Given the description of an element on the screen output the (x, y) to click on. 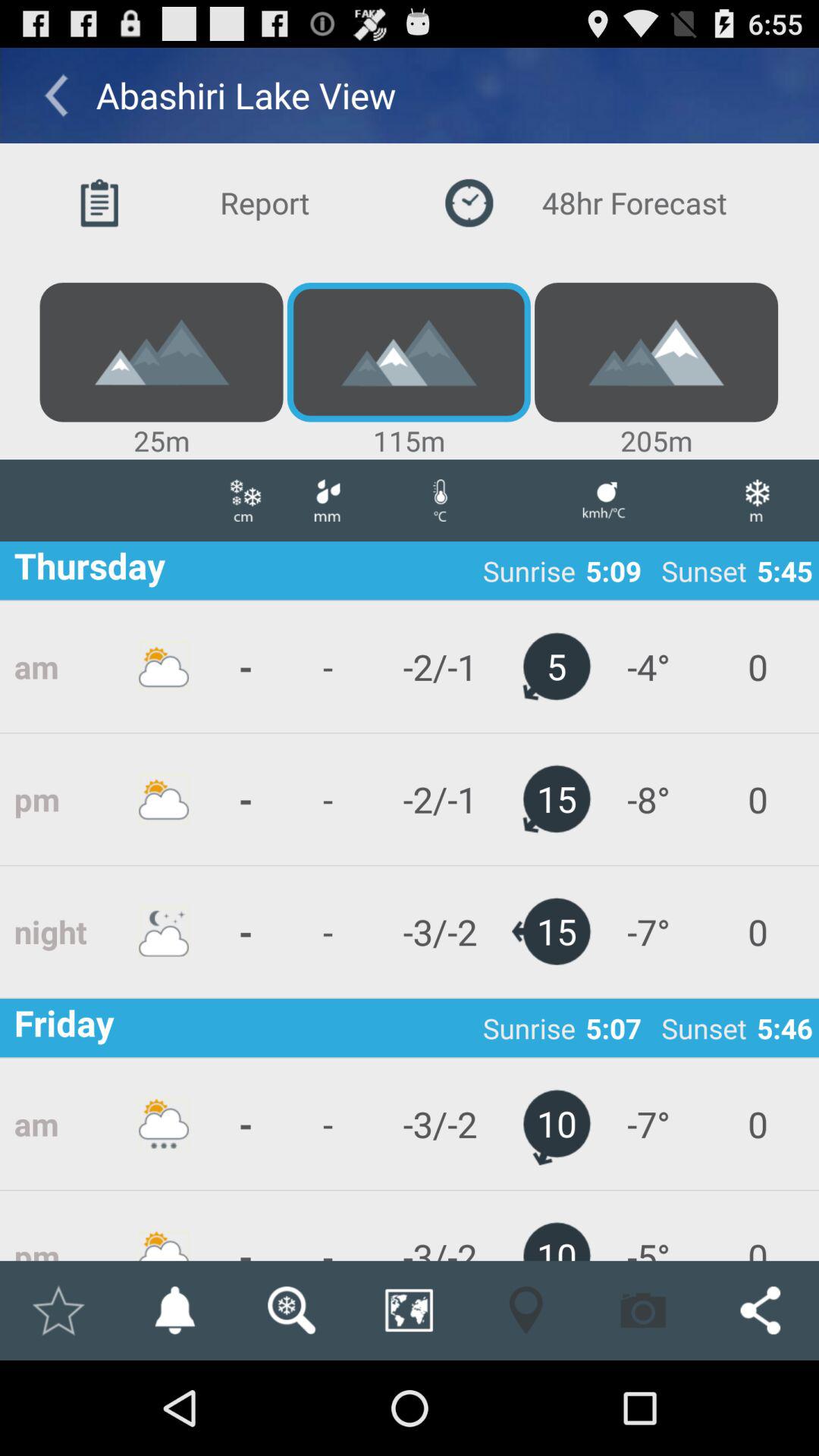
share content (760, 1310)
